Given the description of an element on the screen output the (x, y) to click on. 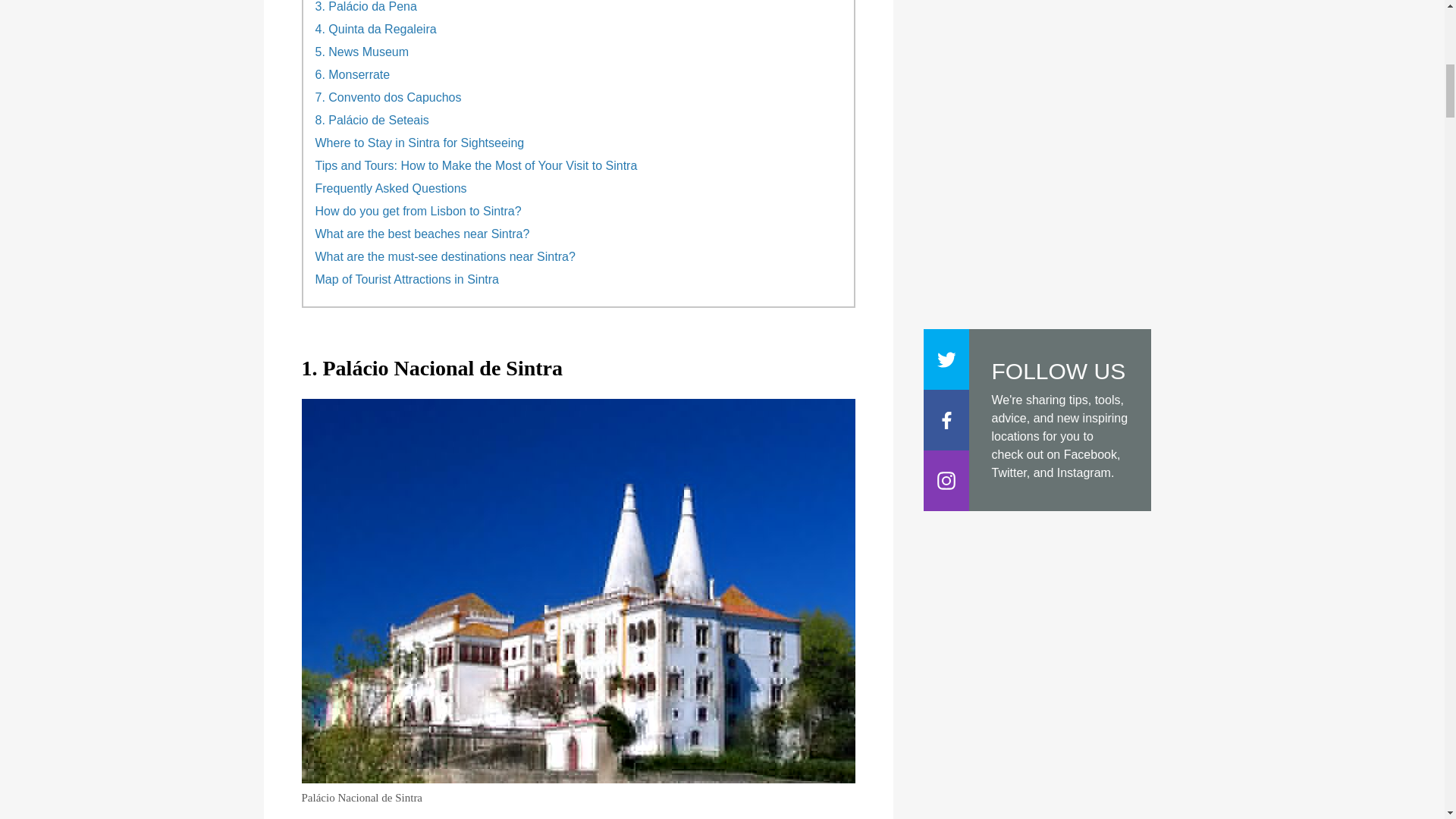
Map of Tourist Attractions in Sintra (407, 279)
Frequently Asked Questions (391, 188)
5. News Museum (362, 51)
How do you get from Lisbon to Sintra? (418, 211)
6. Monserrate (352, 74)
4. Quinta da Regaleira (375, 29)
What are the must-see destinations near Sintra? (445, 256)
7. Convento dos Capuchos (388, 97)
Where to Stay in Sintra for Sightseeing (419, 142)
What are the best beaches near Sintra? (422, 233)
